Given the description of an element on the screen output the (x, y) to click on. 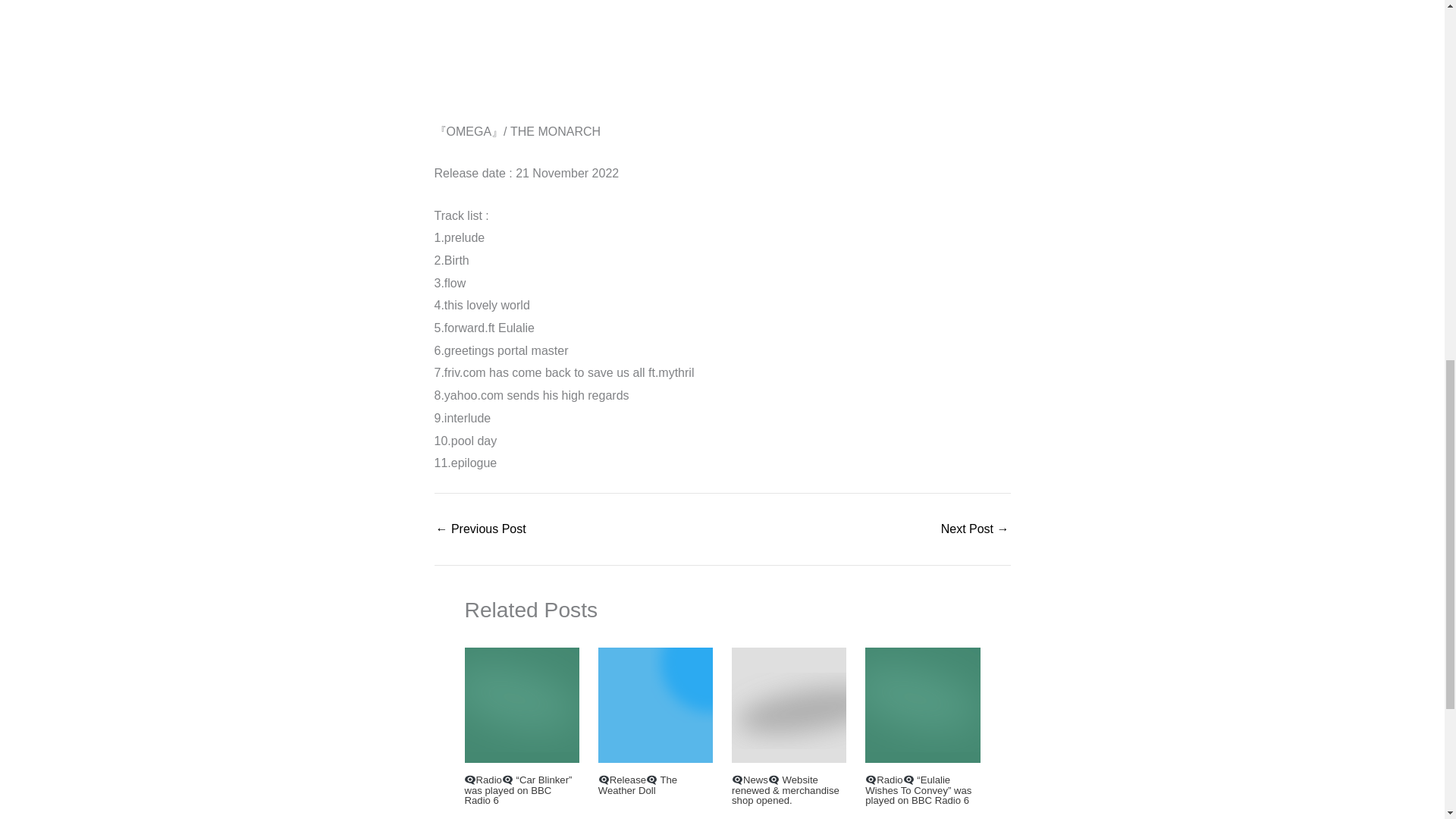
Release The Weather Doll (637, 784)
